Given the description of an element on the screen output the (x, y) to click on. 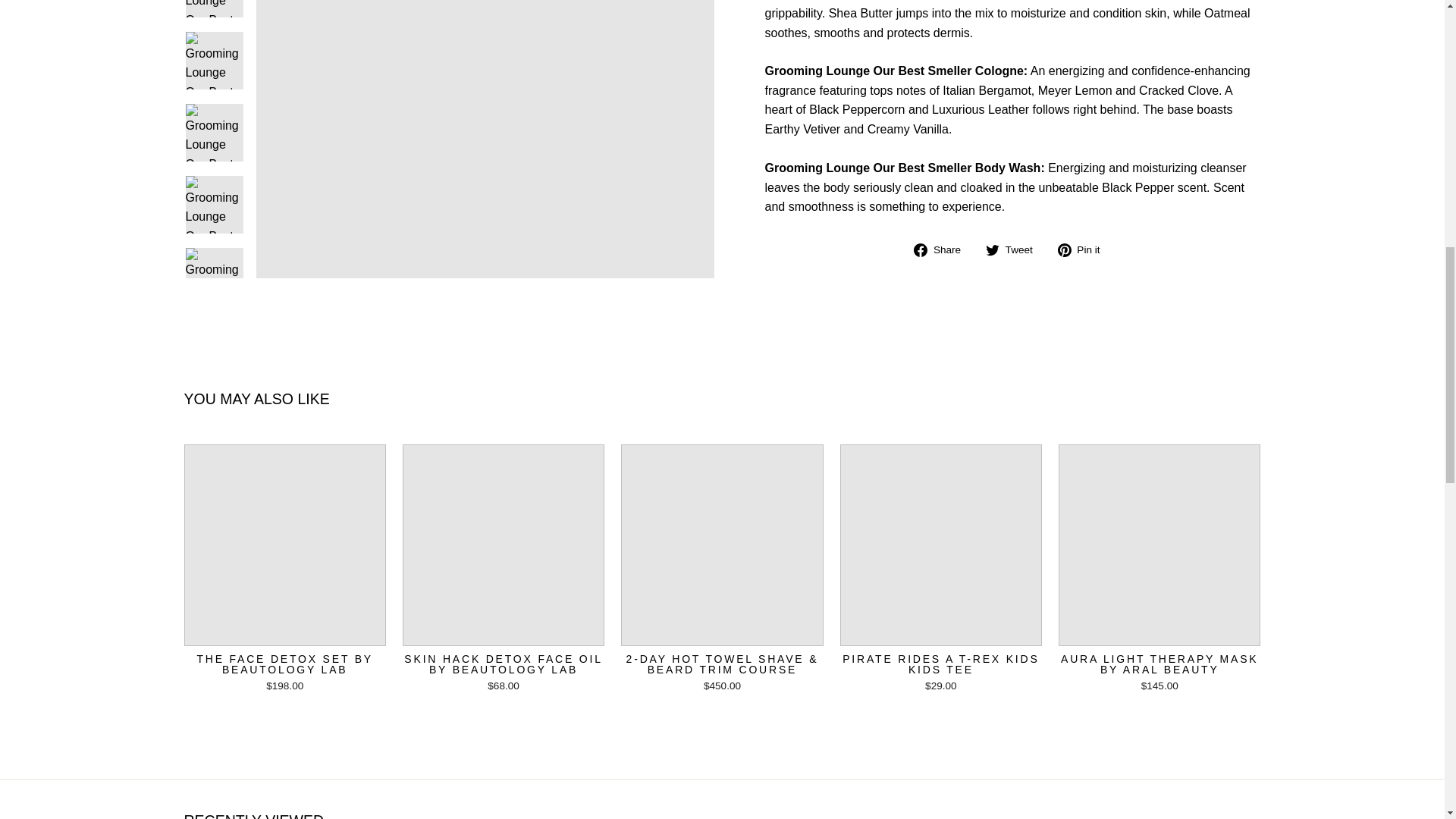
Pin on Pinterest (1085, 249)
Share on Facebook (943, 249)
Tweet on Twitter (1014, 249)
